Given the description of an element on the screen output the (x, y) to click on. 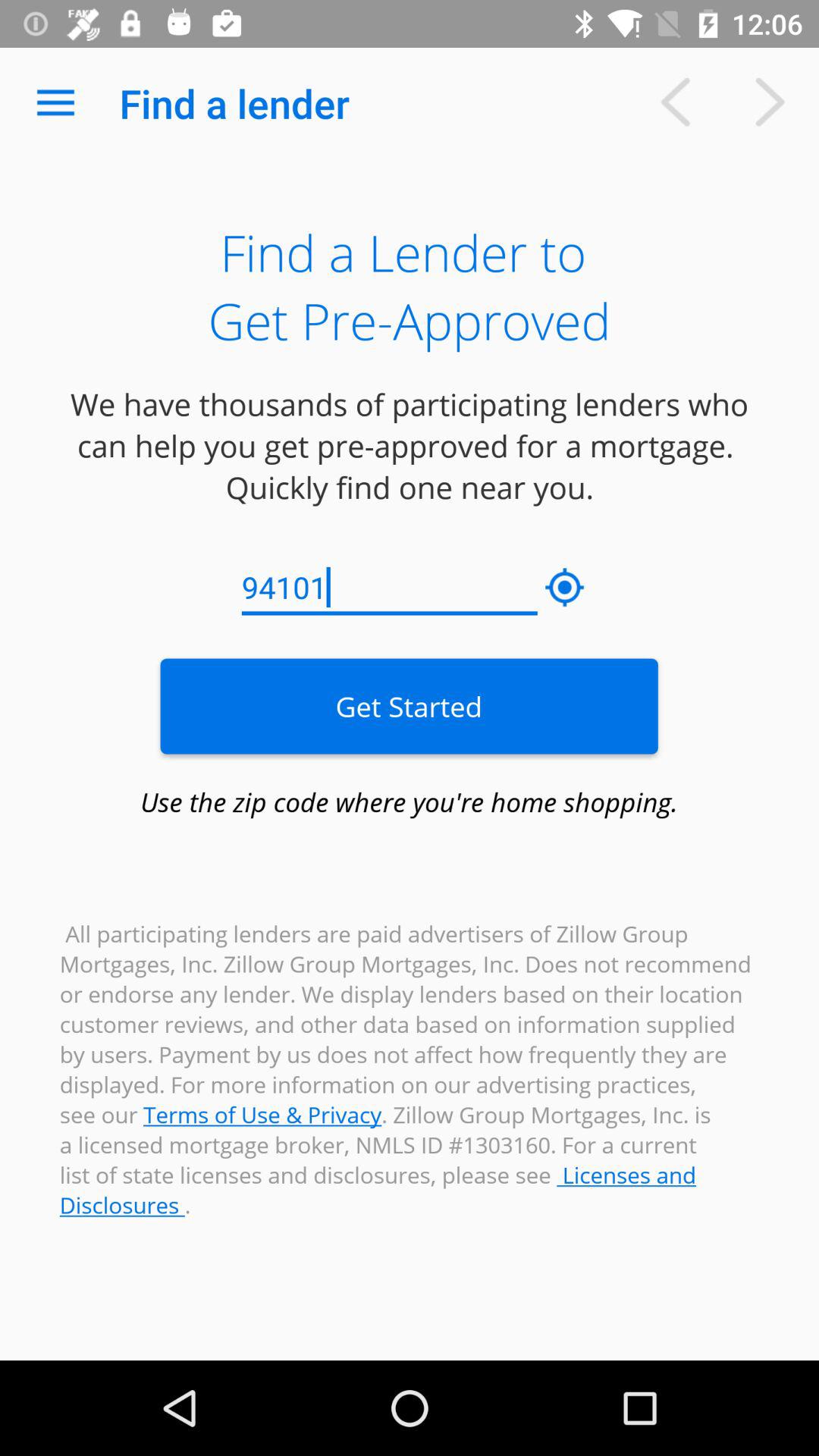
choose the item on the right (565, 587)
